Given the description of an element on the screen output the (x, y) to click on. 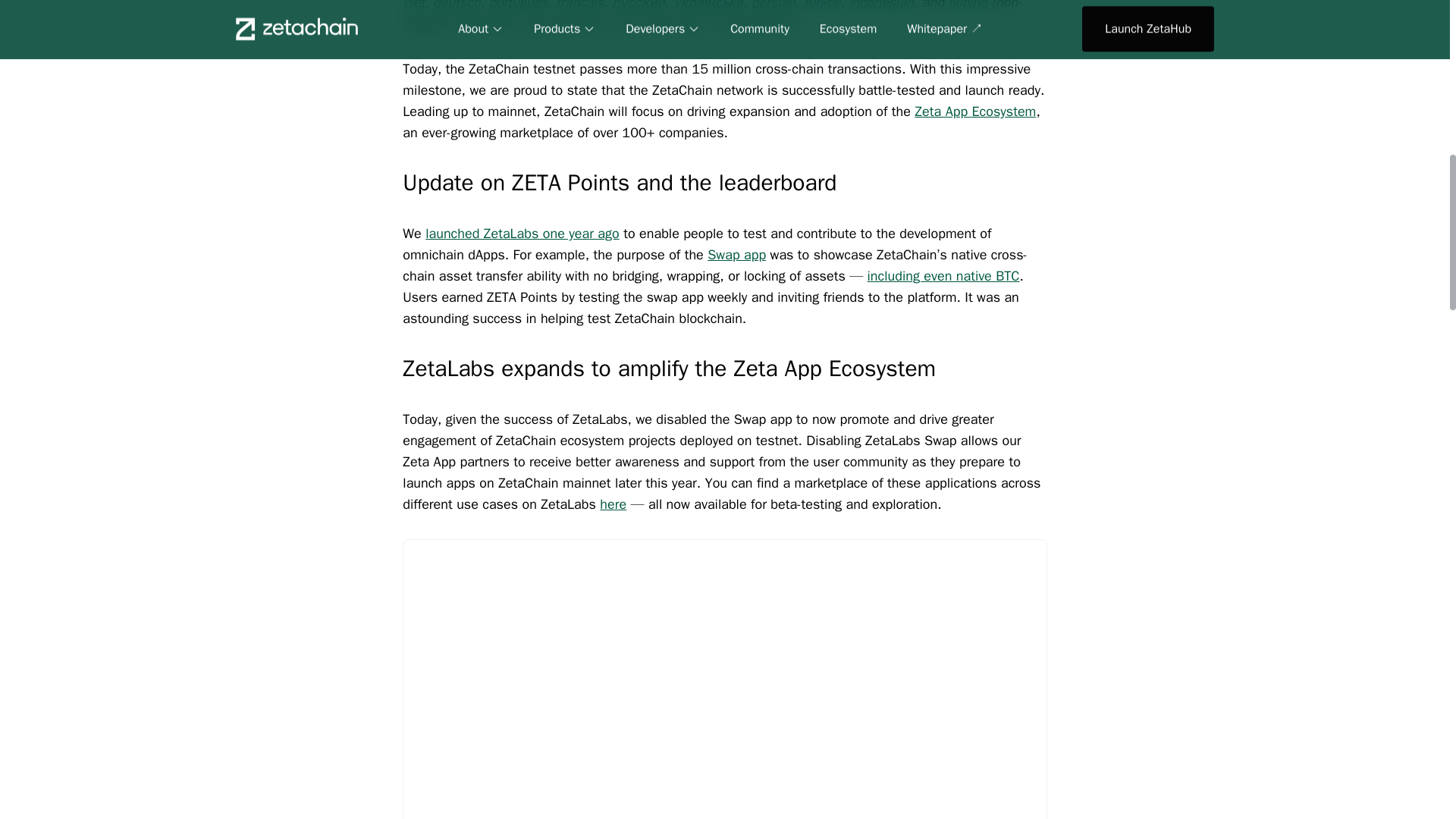
Swap app (736, 254)
launched ZetaLabs one year ago (522, 233)
filipino (967, 5)
including even native BTC (943, 275)
persian (772, 5)
indonesian (881, 5)
deutsch (456, 5)
here (612, 504)
Zeta App Ecosystem (974, 111)
